Given the description of an element on the screen output the (x, y) to click on. 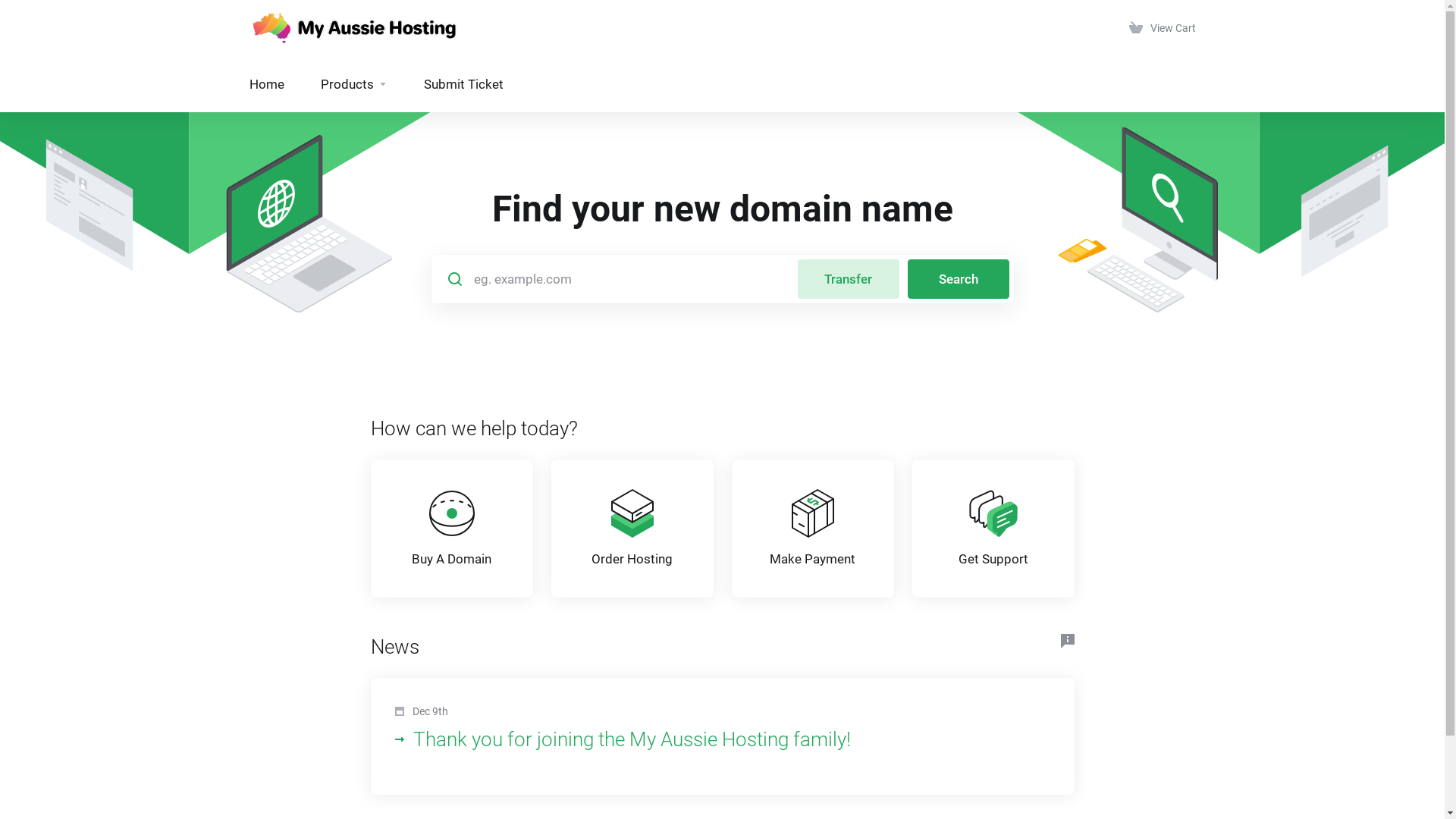
Get Support Element type: text (992, 528)
Make Payment Element type: text (812, 528)
View Cart Element type: text (1161, 27)
Buy A Domain Element type: text (451, 528)
Transfer Element type: text (848, 278)
Order Hosting Element type: text (631, 528)
My Aussie Hosting Element type: hover (354, 27)
Home Element type: text (265, 84)
Required Element type: hover (609, 278)
Submit Ticket Element type: text (462, 84)
Search Element type: text (957, 278)
Products Element type: text (352, 84)
